Given the description of an element on the screen output the (x, y) to click on. 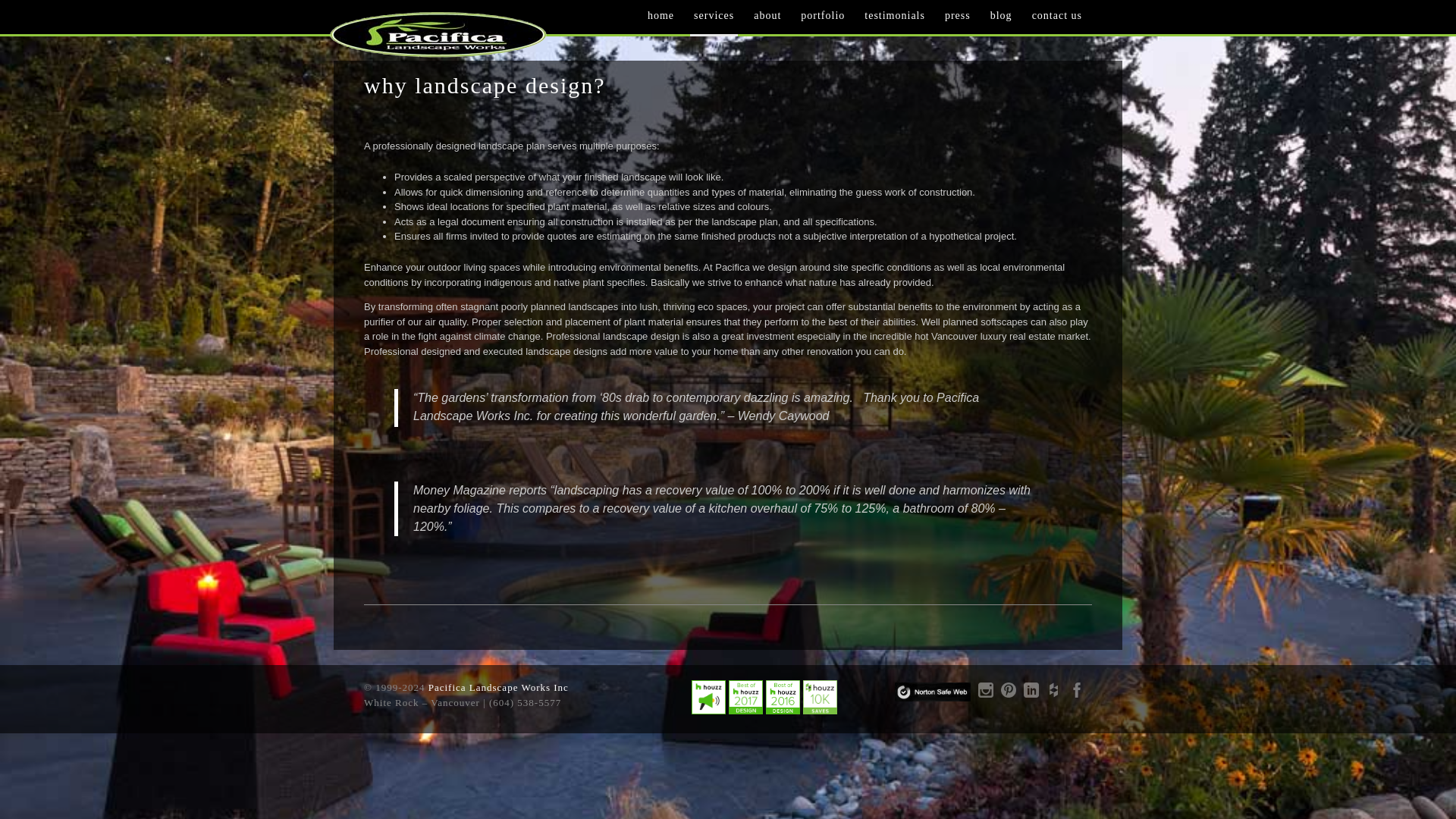
Pinterest (1008, 694)
press (957, 20)
testimonials (894, 20)
home (660, 20)
blog (1001, 20)
Facebook (1076, 694)
services (714, 21)
Houzz (1053, 694)
Instagram (985, 694)
Pacifica Landscape Works Inc (498, 686)
contact us (1056, 20)
portfolio (822, 20)
about (766, 20)
Linkedin (1031, 694)
